Given the description of an element on the screen output the (x, y) to click on. 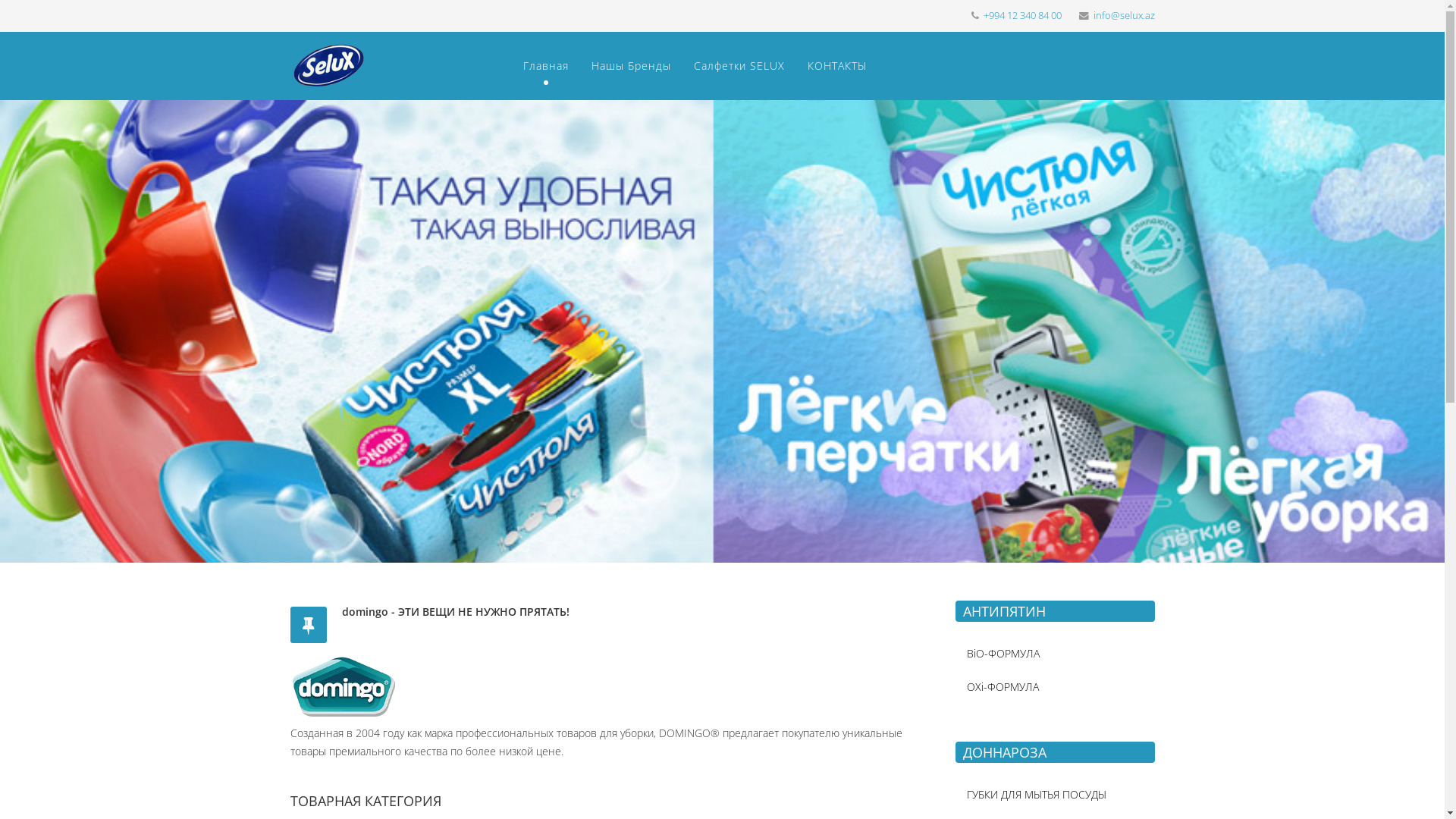
info@selux.az Element type: text (1123, 15)
+994 12 340 84 00 Element type: text (1021, 15)
